Given the description of an element on the screen output the (x, y) to click on. 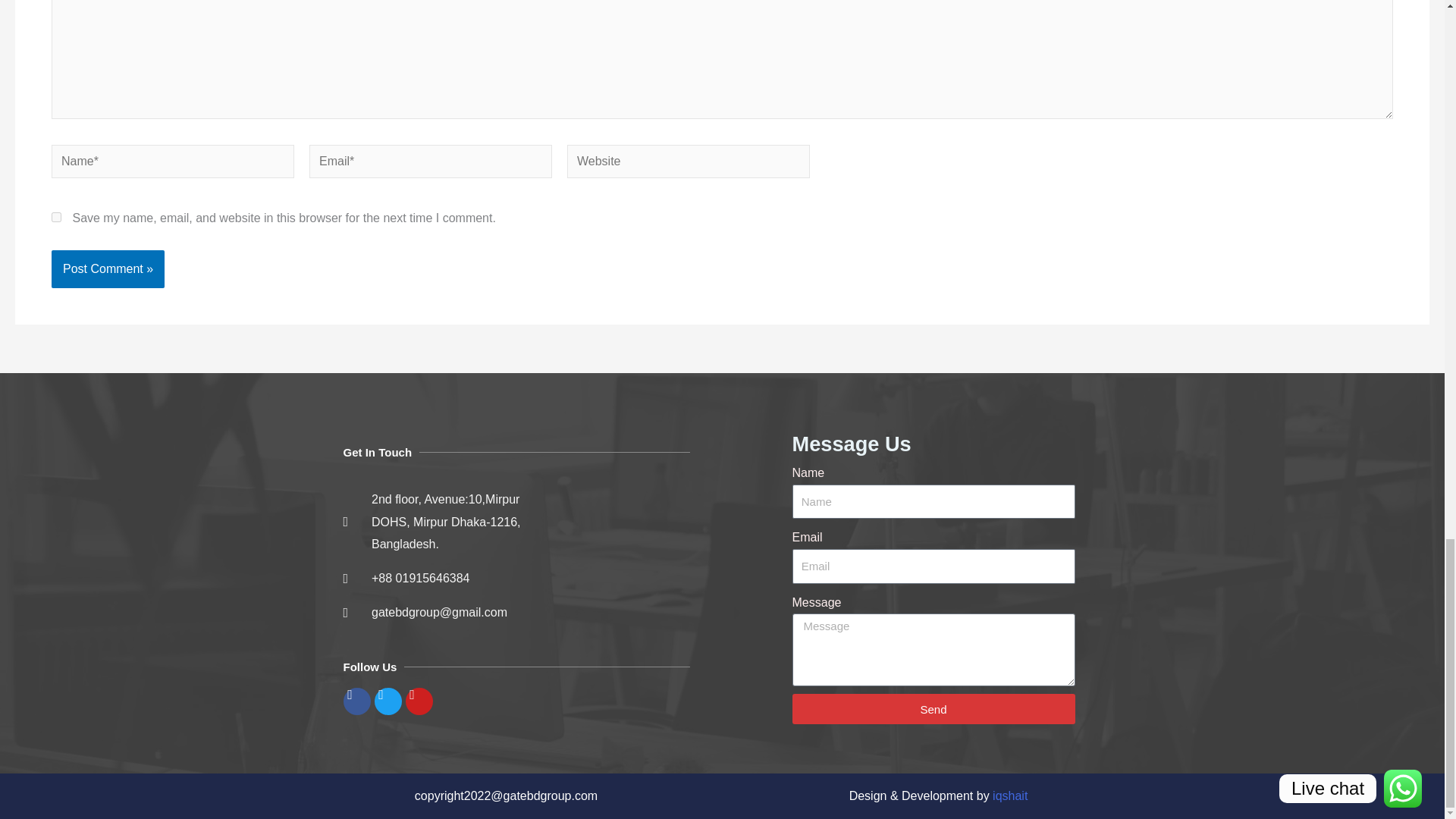
Send (933, 708)
yes (55, 216)
iqshait (1009, 795)
